Given the description of an element on the screen output the (x, y) to click on. 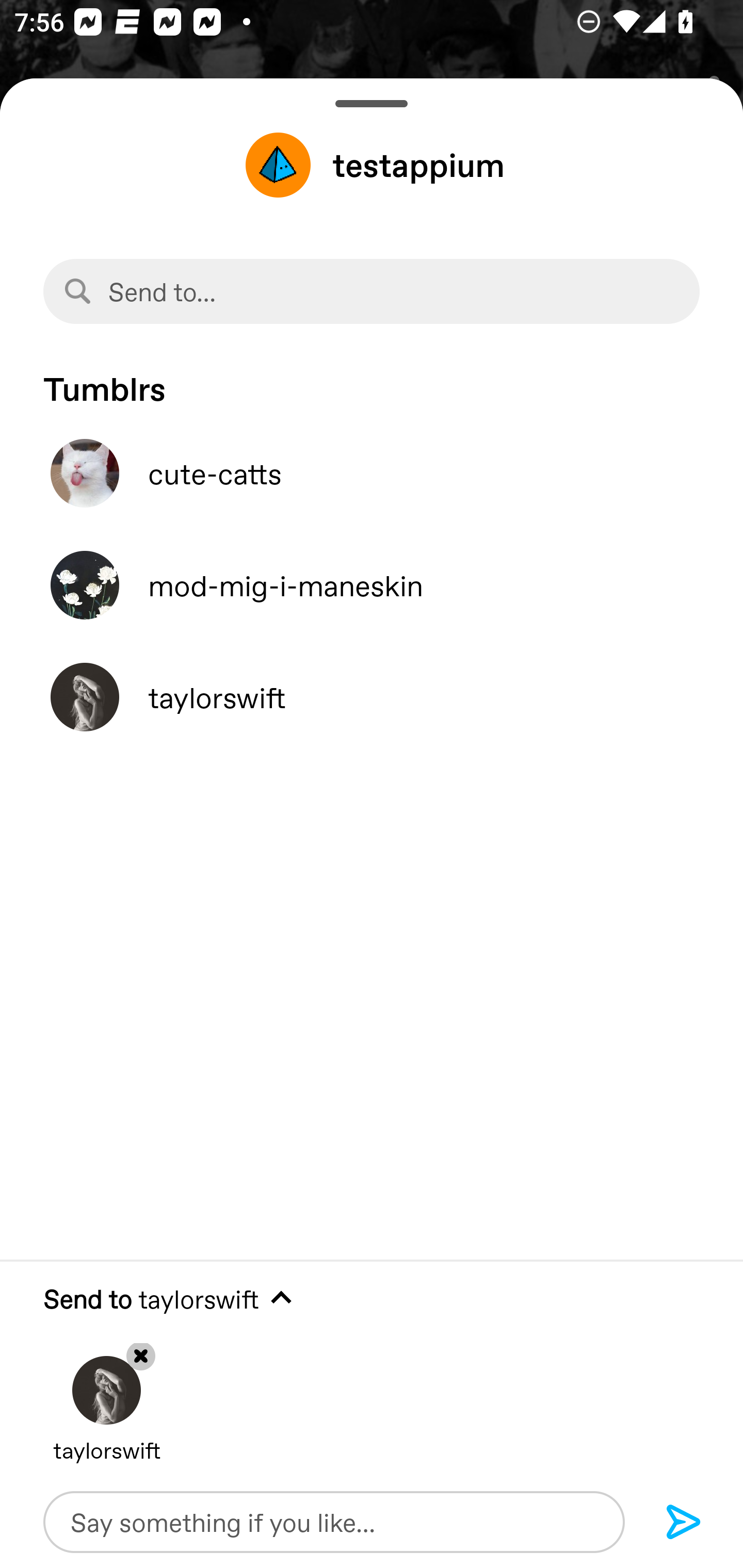
testappium (371, 164)
Send to… (371, 291)
Tumblrs (371, 379)
cute-catts (371, 473)
mod-mig-i-maneskin (371, 585)
taylorswift (371, 696)
Send to taylorswift (371, 1298)
Dismiss taylorswift (106, 1395)
Send (683, 1522)
Say something if you like… (333, 1521)
